Given the description of an element on the screen output the (x, y) to click on. 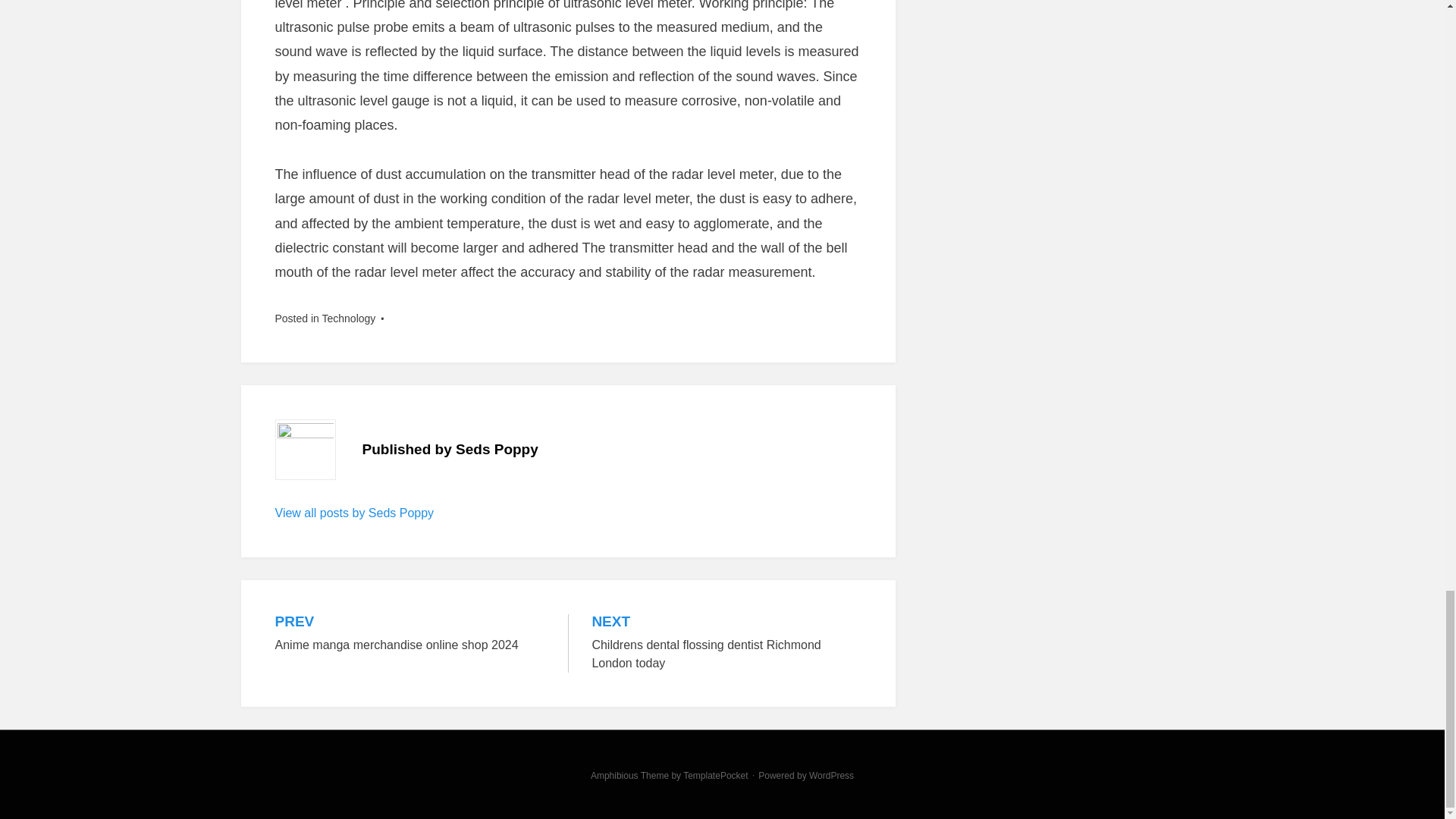
TemplatePocket (715, 775)
View all posts by Seds Poppy (354, 512)
TemplatePocket (715, 775)
WordPress (726, 643)
WordPress (409, 634)
Technology (831, 775)
